Given the description of an element on the screen output the (x, y) to click on. 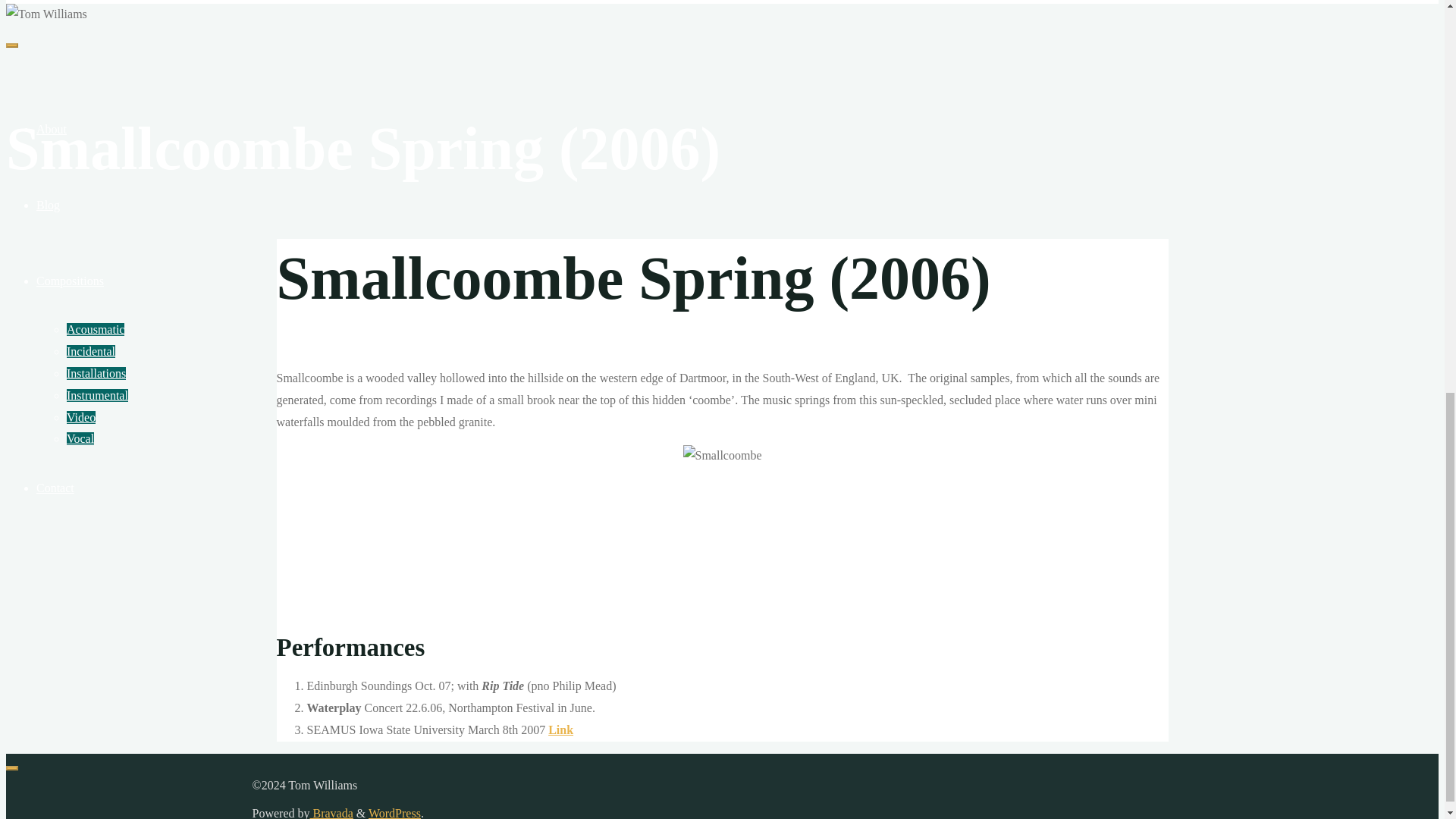
Incidental (90, 350)
Installations (95, 373)
Video (81, 417)
Compositions (69, 280)
Acousmatic (94, 328)
Instrumental (97, 395)
Contact (55, 487)
Blog (47, 205)
Vocal (80, 438)
Link (560, 729)
About (51, 128)
